Given the description of an element on the screen output the (x, y) to click on. 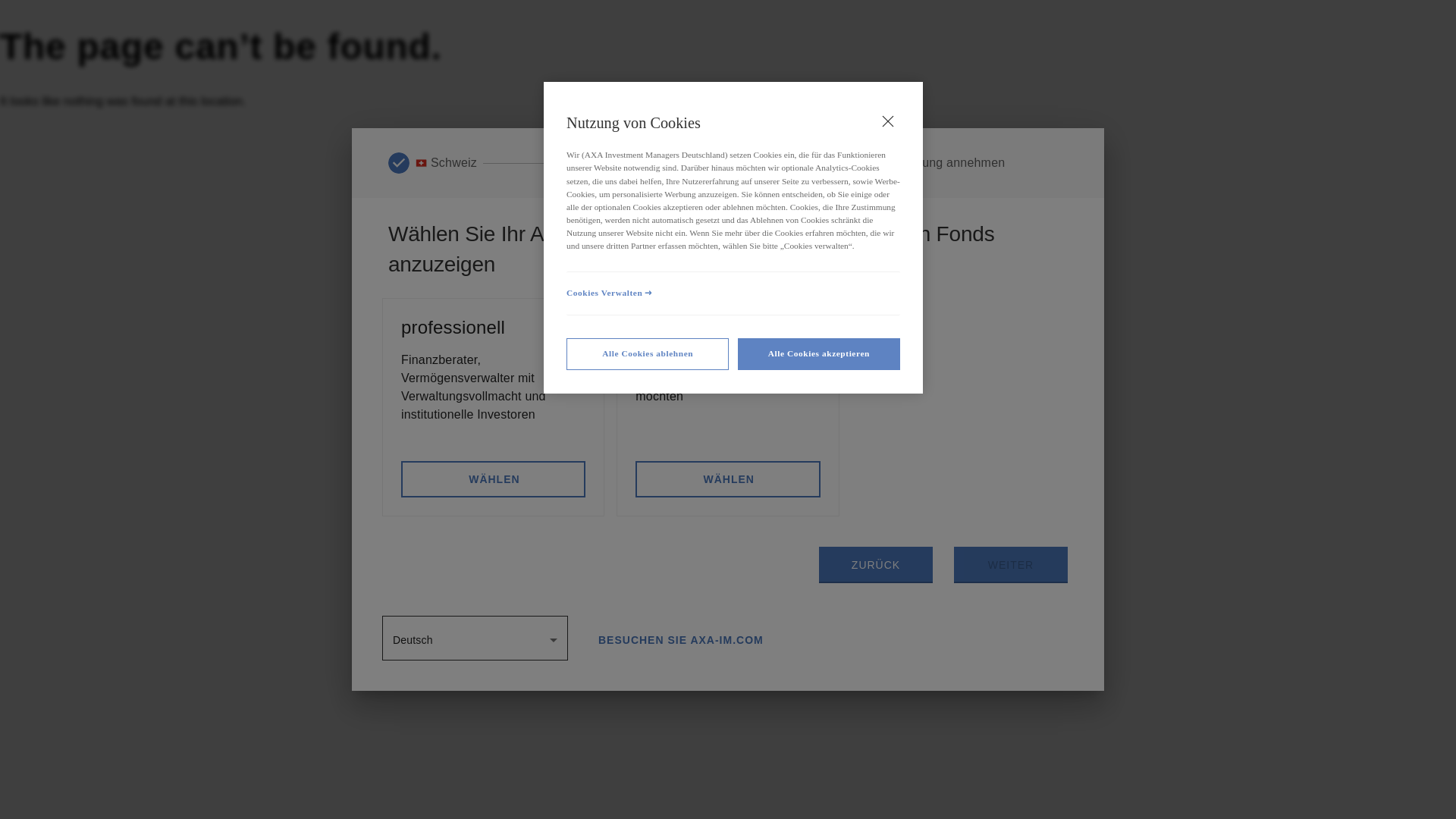
Alle Cookies akzeptieren Element type: text (818, 354)
BESUCHEN SIE AXA-IM.COM Element type: text (680, 639)
Cookies Verwalten Element type: text (733, 293)
WEITER Element type: text (1010, 564)
Alle Cookies ablehnen Element type: text (647, 354)
